Given the description of an element on the screen output the (x, y) to click on. 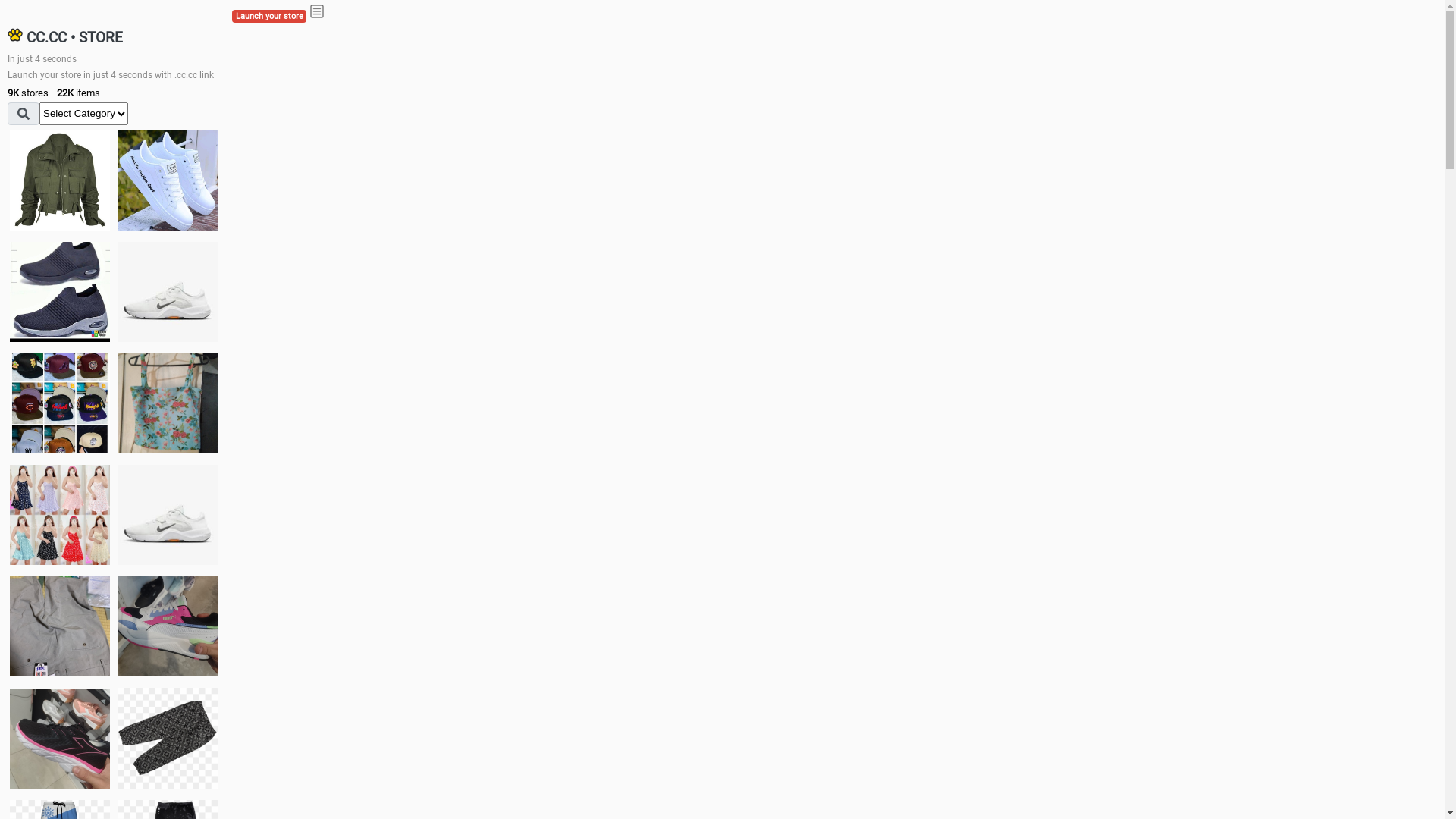
Zapatillas Element type: hover (59, 738)
Shoes for boys Element type: hover (167, 291)
white shoes Element type: hover (167, 180)
Launch your store Element type: text (269, 15)
Zapatillas pumas Element type: hover (167, 626)
Ukay cloth Element type: hover (167, 403)
Short pant Element type: hover (167, 737)
Things we need Element type: hover (59, 403)
jacket Element type: hover (59, 180)
shoes for boys Element type: hover (59, 291)
Dress/square nect top Element type: hover (59, 514)
Shoes Element type: hover (167, 514)
